Given the description of an element on the screen output the (x, y) to click on. 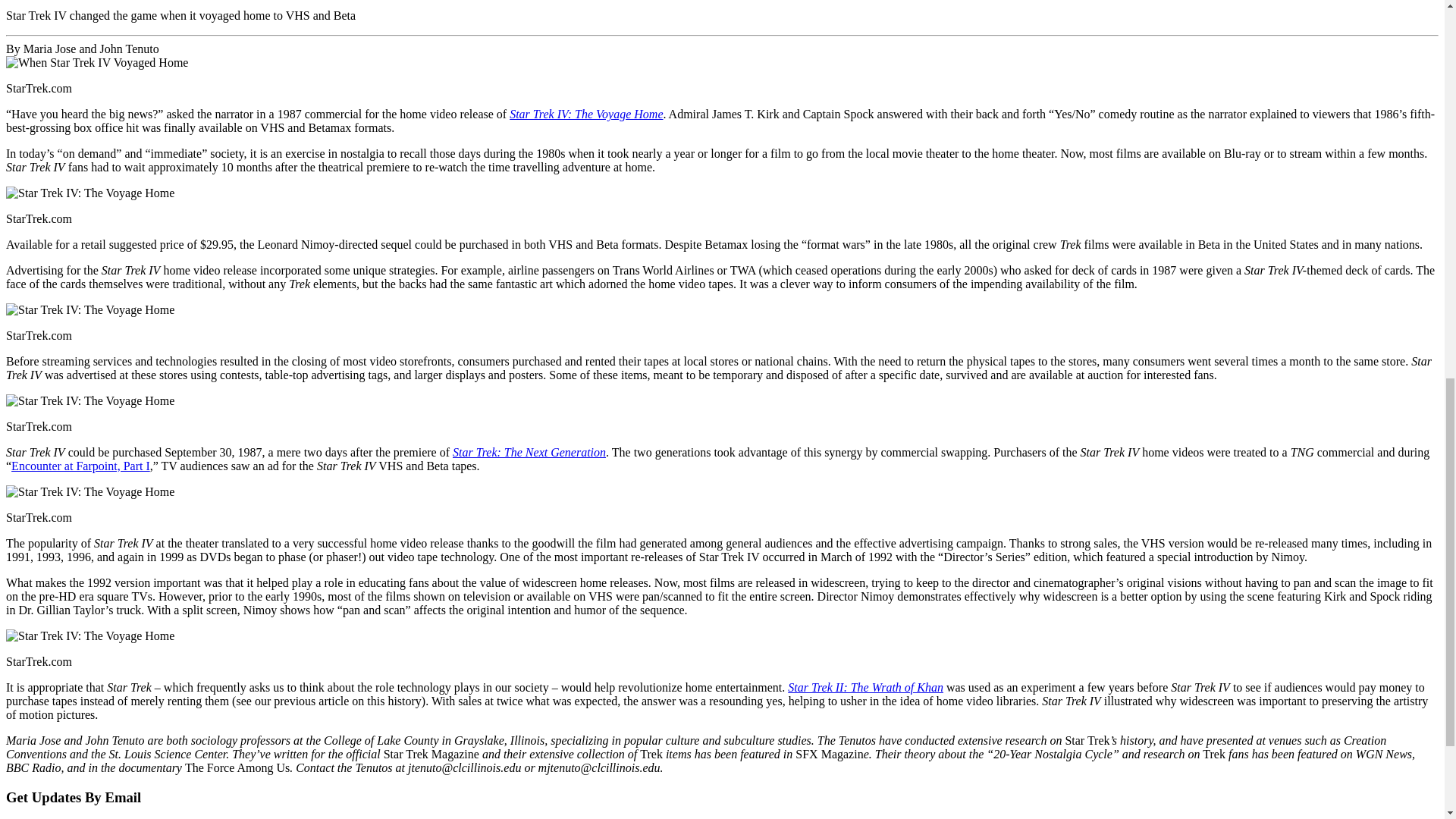
Encounter at Farpoint, Part I (80, 465)
Star Trek II: The Wrath of Khan (865, 686)
Star Trek IV: The Voyage Home (585, 113)
Star Trek: The Next Generation (528, 451)
